Given the description of an element on the screen output the (x, y) to click on. 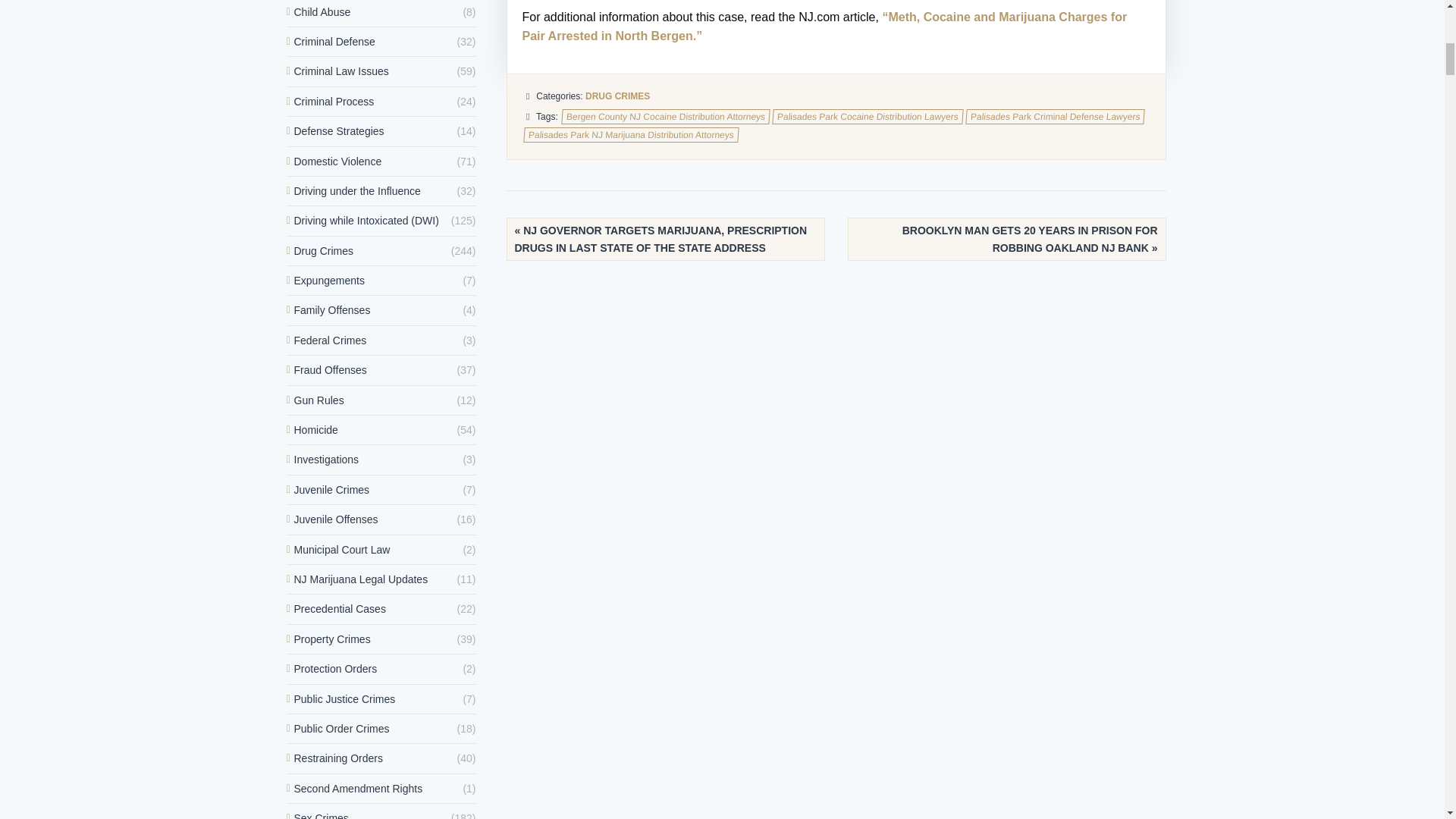
Palisades Park NJ Marijuana Distribution Attorneys (630, 134)
Bergen County NJ Cocaine Distribution Attorneys (664, 116)
Palisades Park Cocaine Distribution Lawyers (867, 116)
Palisades Park Criminal Defense Lawyers (1053, 116)
DRUG CRIMES (617, 95)
